Given the description of an element on the screen output the (x, y) to click on. 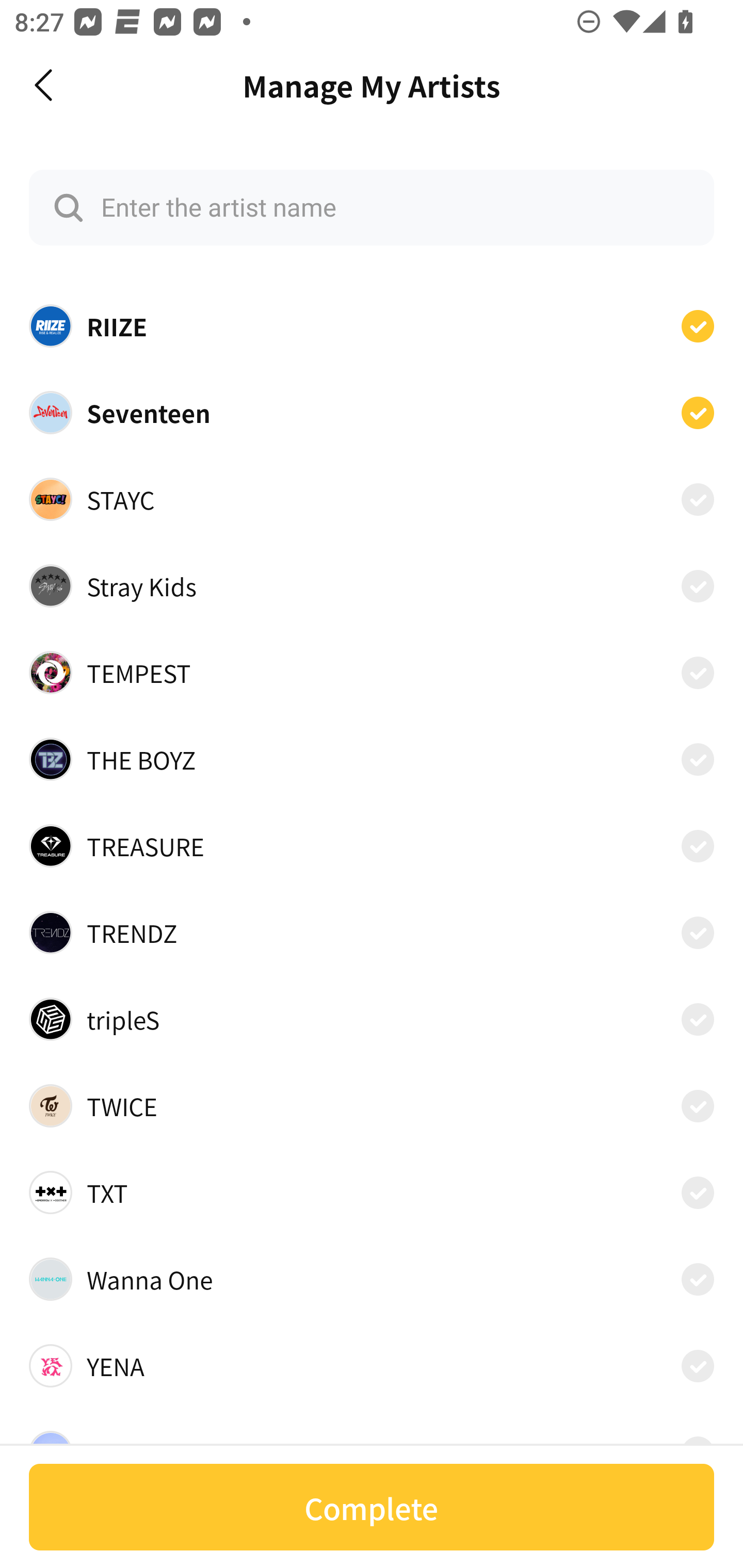
Enter the artist name (371, 207)
RIIZE (371, 326)
Seventeen (371, 412)
STAYC (371, 499)
Stray Kids (371, 586)
TEMPEST (371, 672)
THE BOYZ (371, 758)
TREASURE (371, 845)
TRENDZ (371, 932)
tripleS (371, 1019)
TWICE (371, 1105)
TXT (371, 1192)
Wanna One (371, 1279)
YENA (371, 1365)
Complete (371, 1507)
